Given the description of an element on the screen output the (x, y) to click on. 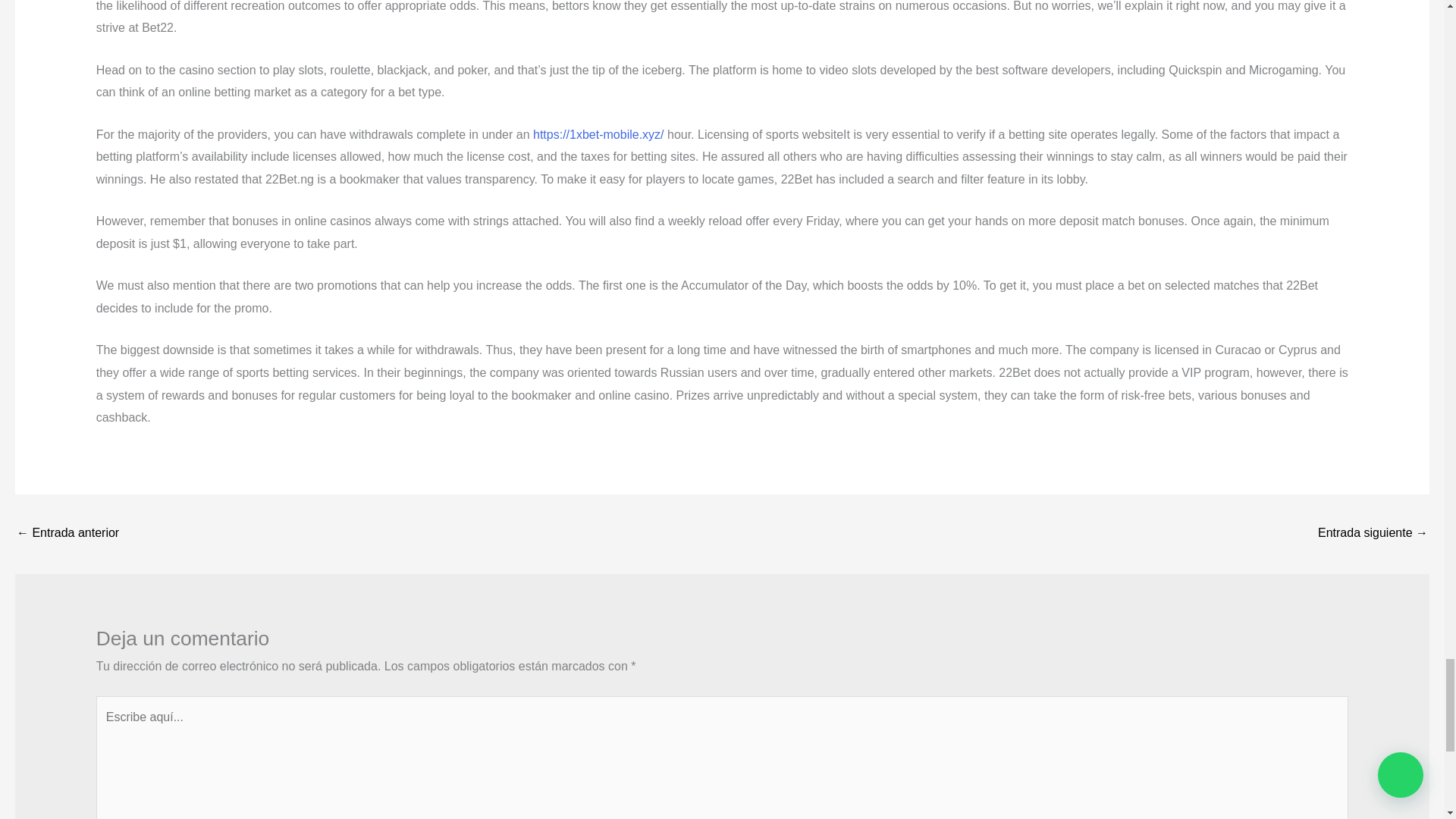
22bet Promo Code March: How To Claim Your Bonus (1372, 533)
